Given the description of an element on the screen output the (x, y) to click on. 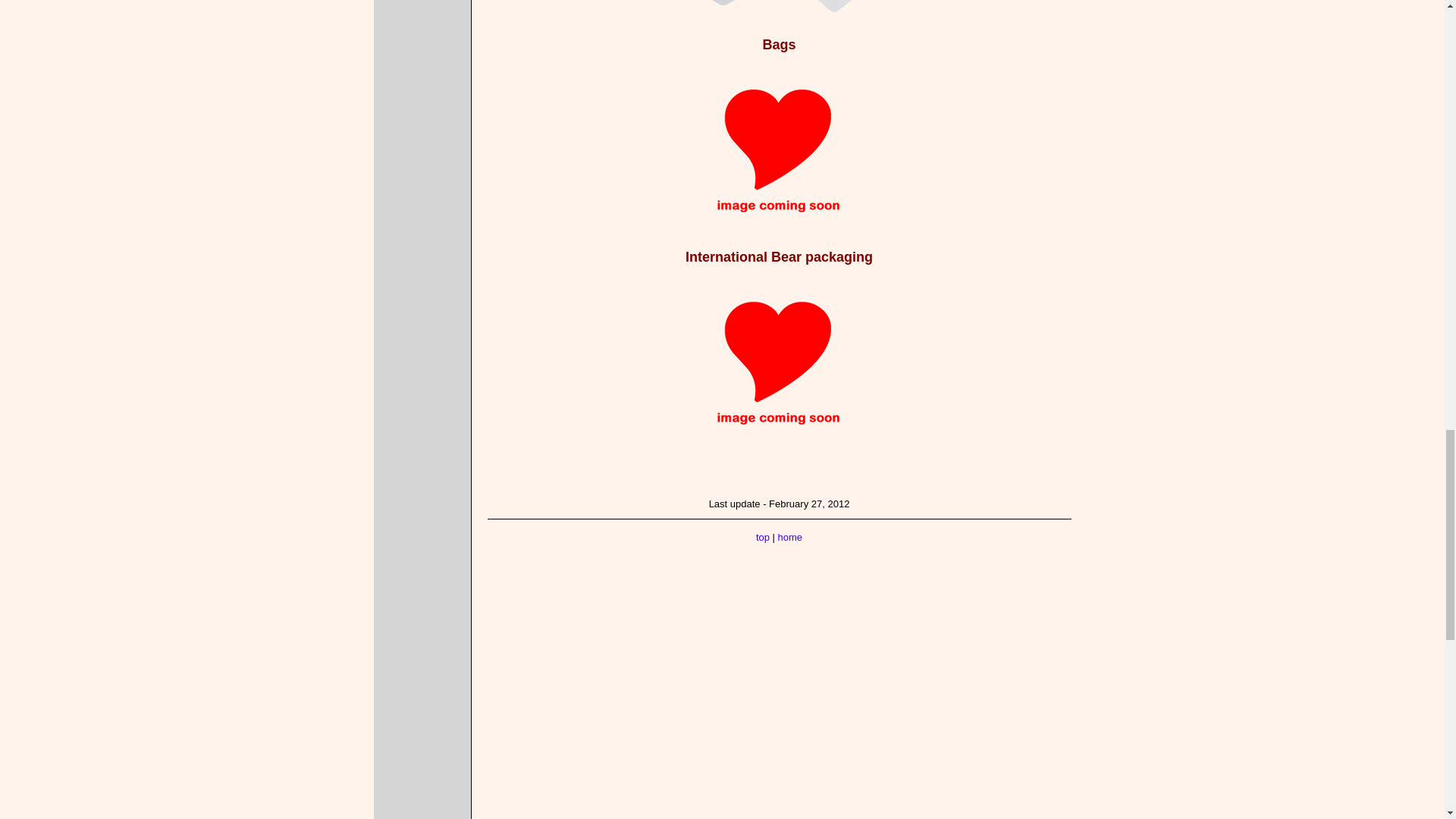
home (790, 536)
top (762, 536)
